Given the description of an element on the screen output the (x, y) to click on. 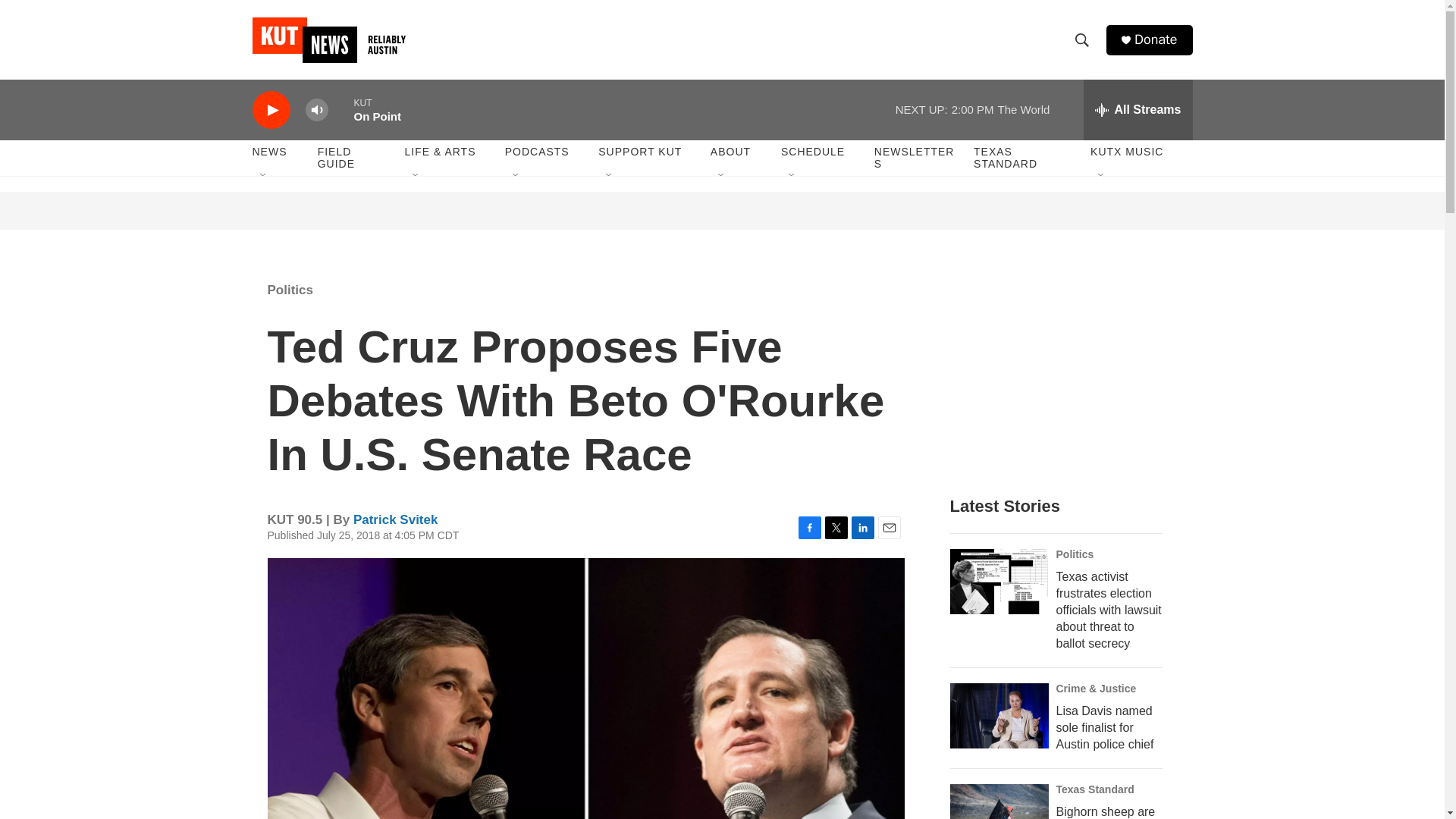
3rd party ad content (1062, 370)
3rd party ad content (722, 210)
